Given the description of an element on the screen output the (x, y) to click on. 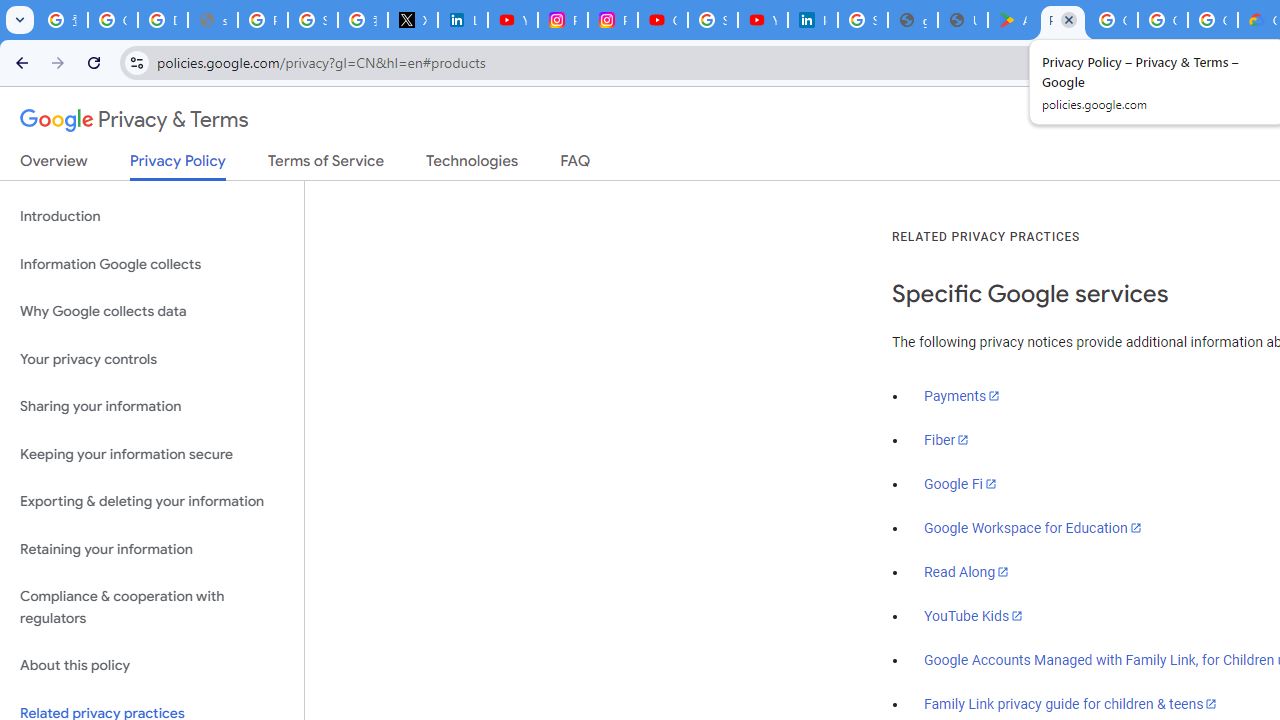
Retaining your information (152, 548)
support.google.com - Network error (213, 20)
Read Along (966, 572)
Sign in - Google Accounts (863, 20)
Why Google collects data (152, 312)
Introduction (152, 216)
Payments (962, 395)
Sign in - Google Accounts (712, 20)
Your privacy controls (152, 358)
Exporting & deleting your information (152, 502)
